Given the description of an element on the screen output the (x, y) to click on. 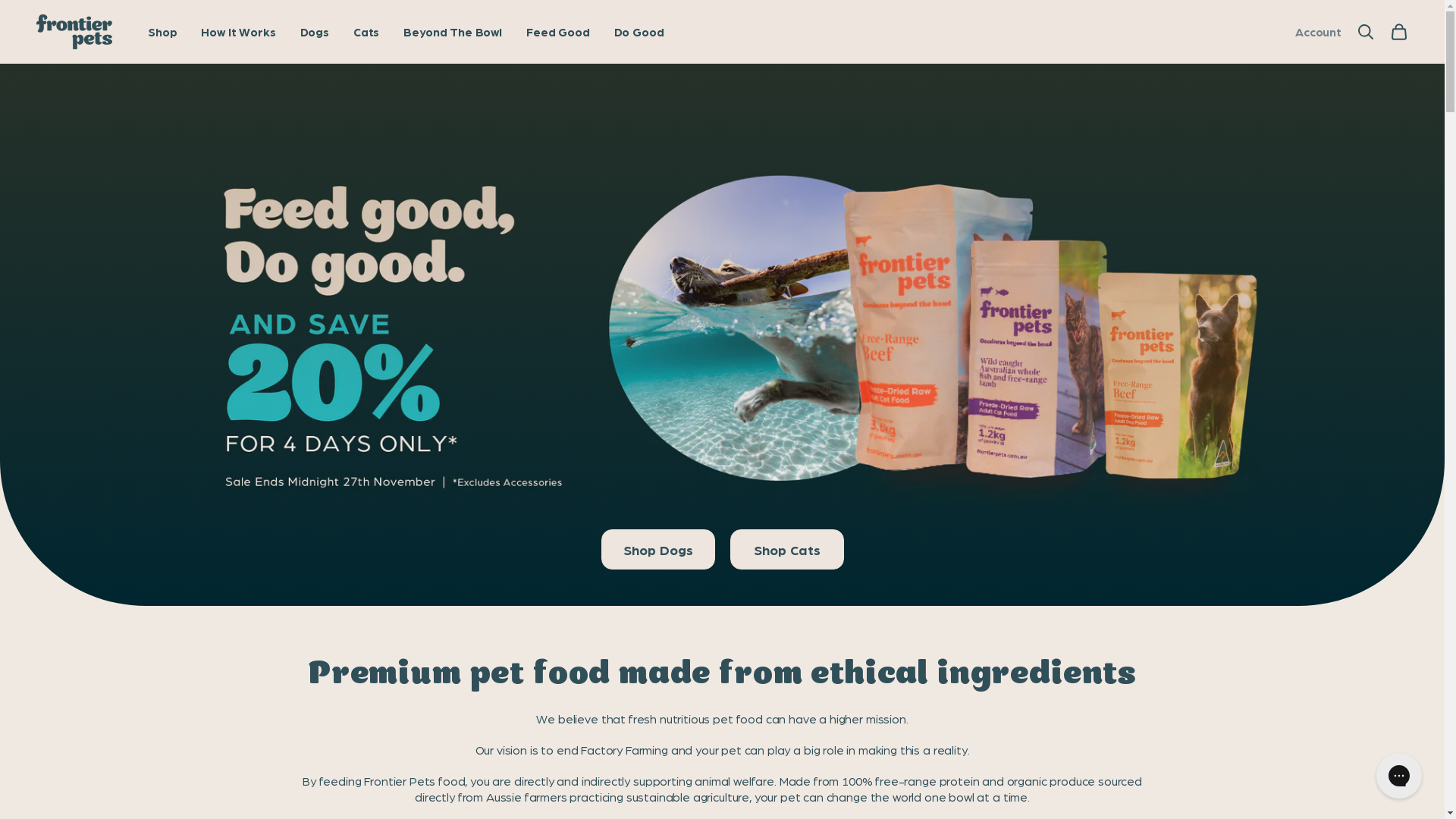
Do Good Element type: text (639, 31)
Feed Good Element type: text (557, 31)
How It Works Element type: text (237, 31)
Frontier Pets Element type: text (74, 31)
Shop Dogs Element type: text (657, 548)
Gorgias live chat messenger Element type: hover (1398, 775)
Open account page
Account Element type: text (1318, 31)
Shop Cats Element type: text (786, 548)
Open cart Element type: text (1399, 31)
Open search Element type: text (1365, 31)
